Given the description of an element on the screen output the (x, y) to click on. 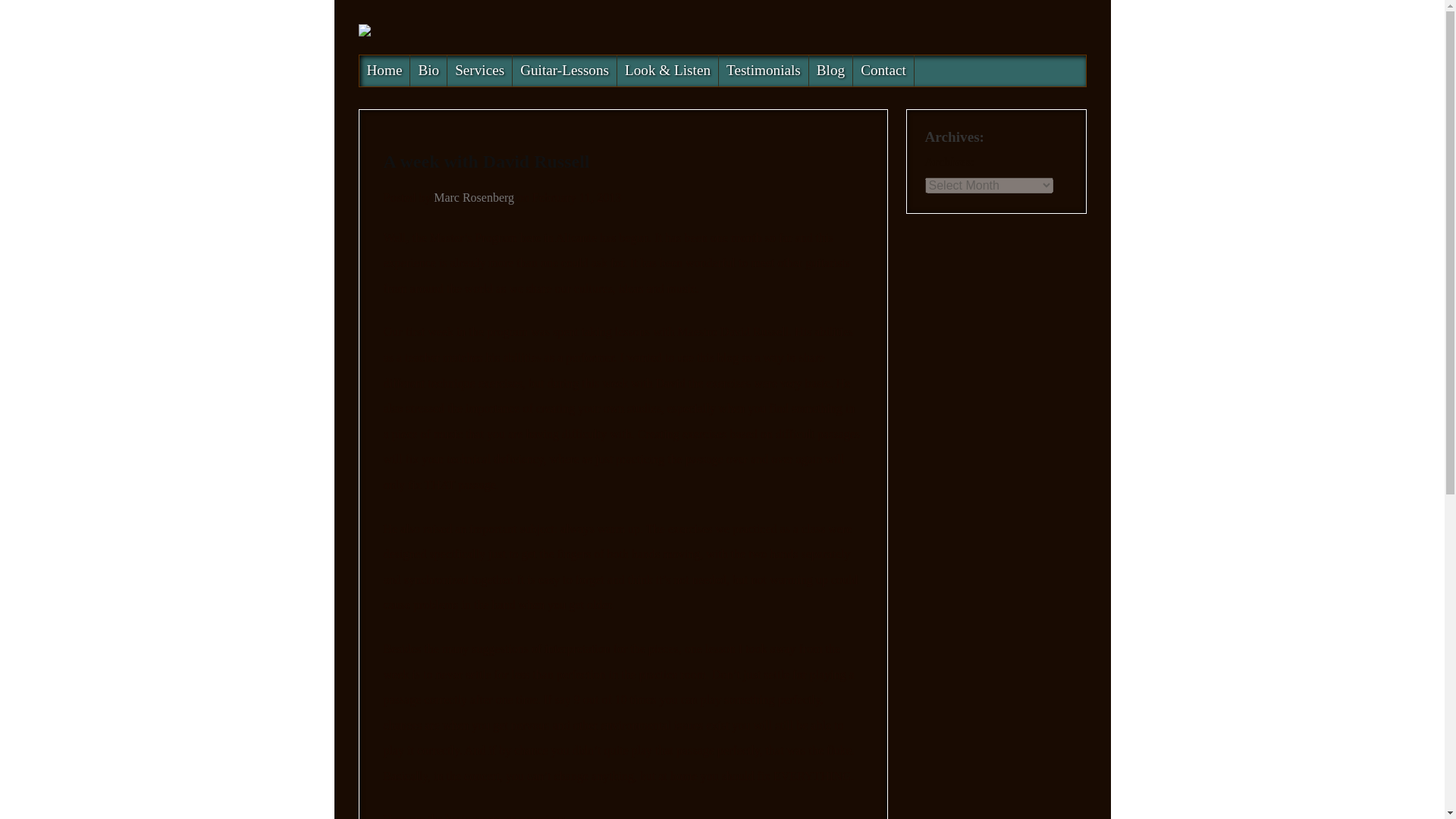
Marc Rosenberg (473, 196)
Bio (428, 70)
Guitar-Lessons (564, 70)
Contact (883, 70)
Services (479, 70)
Marc Rosenberg (473, 196)
Testimonials (764, 70)
Home (384, 70)
Blog (831, 70)
